Given the description of an element on the screen output the (x, y) to click on. 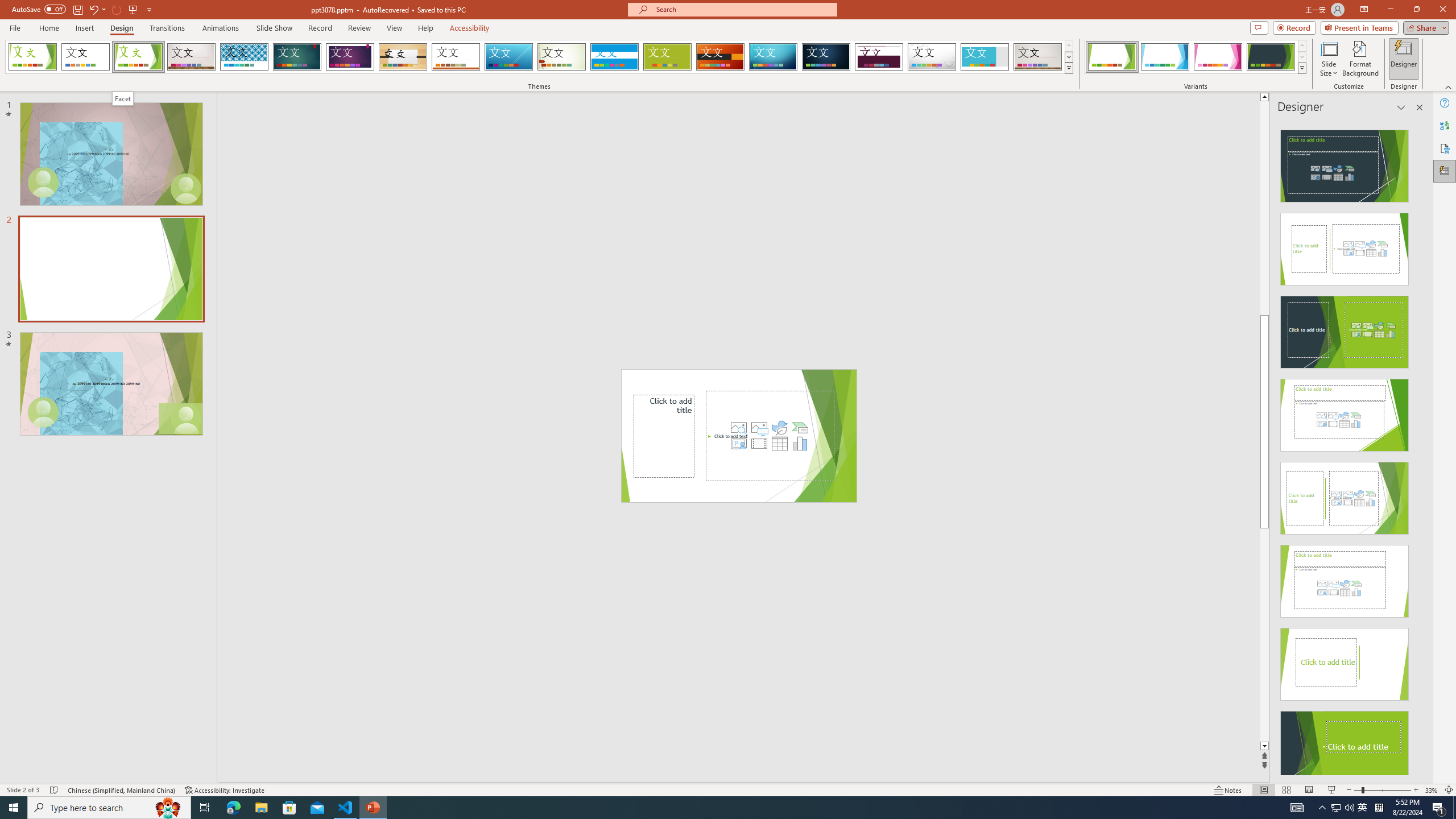
Facet (122, 98)
Frame (984, 56)
Facet Variant 4 (1270, 56)
Circuit (772, 56)
Banded (614, 56)
